Given the description of an element on the screen output the (x, y) to click on. 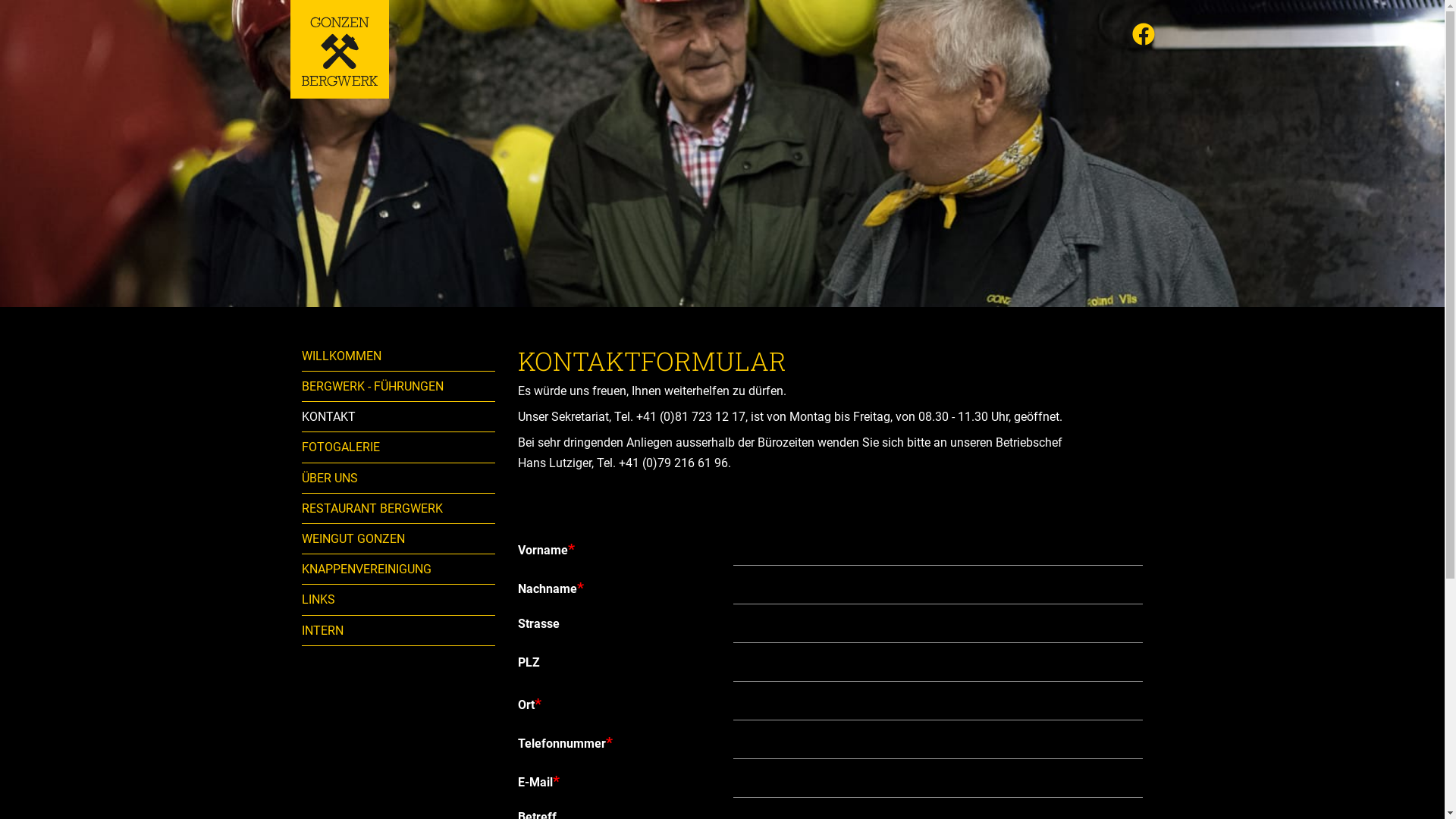
WEINGUT GONZEN Element type: text (398, 538)
FOTOGALERIE Element type: text (398, 446)
INTERN Element type: text (398, 630)
Gonzenbergwerk Facebook Element type: hover (1142, 36)
Gonzen Bergwerk Element type: hover (338, 49)
KNAPPENVEREINIGUNG Element type: text (398, 568)
KONTAKT Element type: text (398, 416)
LINKS Element type: text (398, 599)
WILLKOMMEN Element type: text (398, 355)
RESTAURANT BERGWERK Element type: text (398, 508)
